Given the description of an element on the screen output the (x, y) to click on. 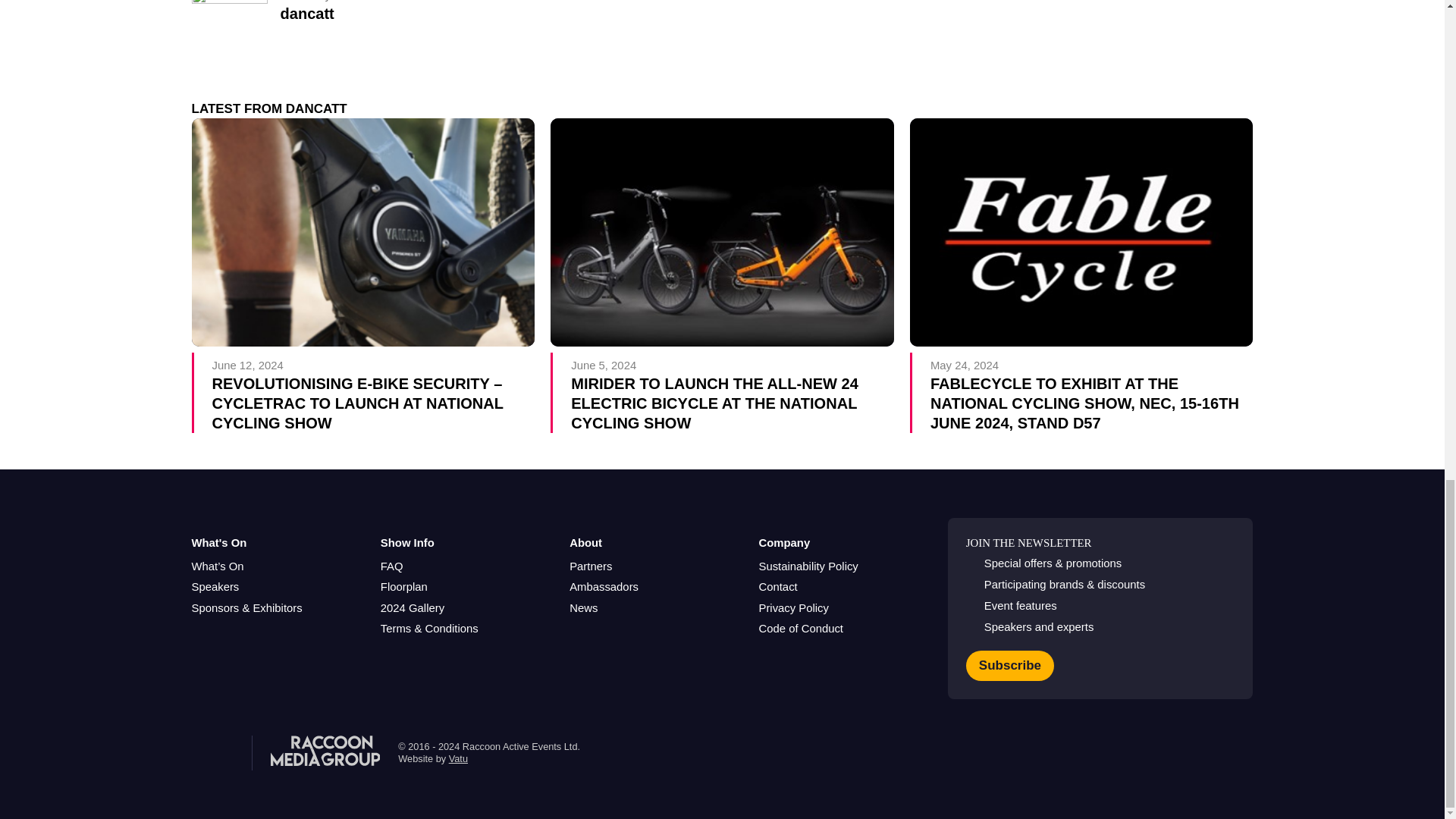
Code of Conduct (800, 628)
Contact (777, 586)
Vatu (457, 758)
Speakers (214, 586)
Subscribe (1010, 665)
2024 Gallery (412, 608)
Sustainability Policy (807, 566)
Partners (590, 566)
Floorplan (404, 586)
FAQ (391, 566)
News (582, 608)
Privacy Policy (793, 608)
Ambassadors (604, 586)
